Given the description of an element on the screen output the (x, y) to click on. 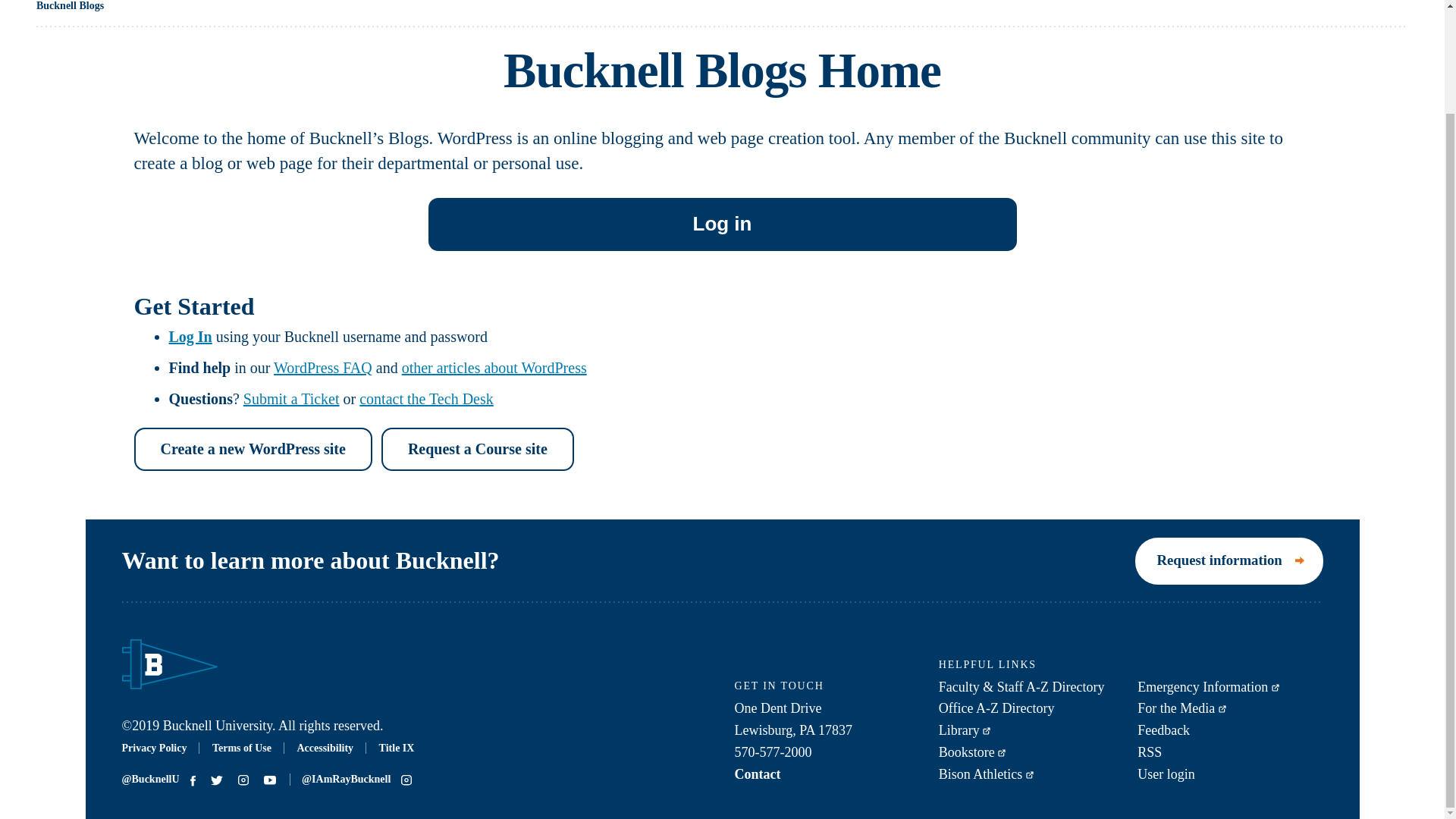
External Link Icon (1001, 752)
External Link Icon (1275, 687)
Bucknell Flag Logo (168, 664)
Arrow Icon (1299, 560)
External Link Icon (1221, 708)
External Link Icon (1029, 774)
External Link Icon (986, 730)
